Given the description of an element on the screen output the (x, y) to click on. 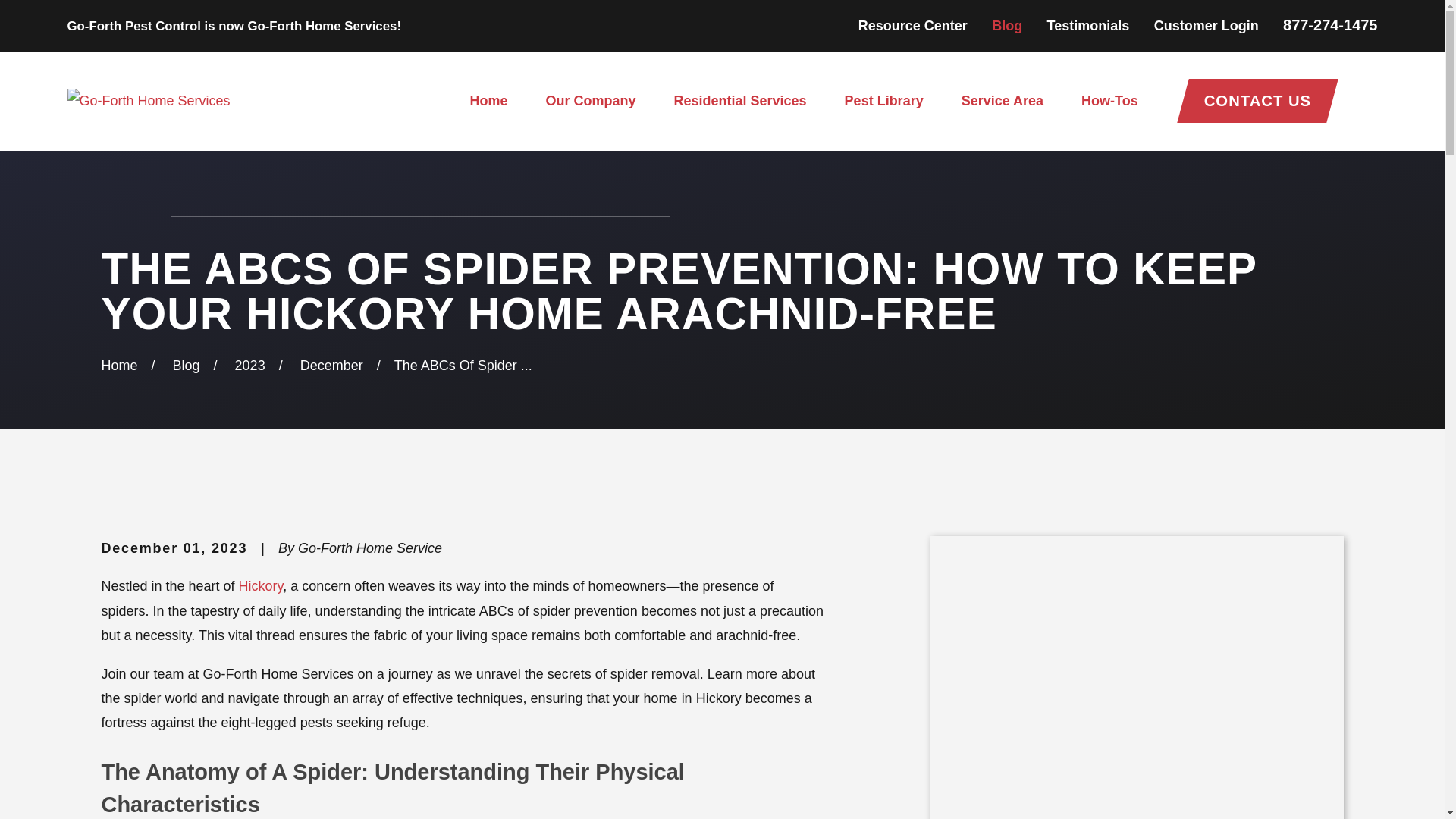
Customer Login (1206, 25)
Testimonials (1087, 25)
Home (148, 100)
Our Company (589, 100)
Go Home (118, 365)
877-274-1475 (1329, 24)
Pest Library (883, 100)
Residential Services (739, 100)
Resource Center (913, 25)
Blog (1006, 25)
